Given the description of an element on the screen output the (x, y) to click on. 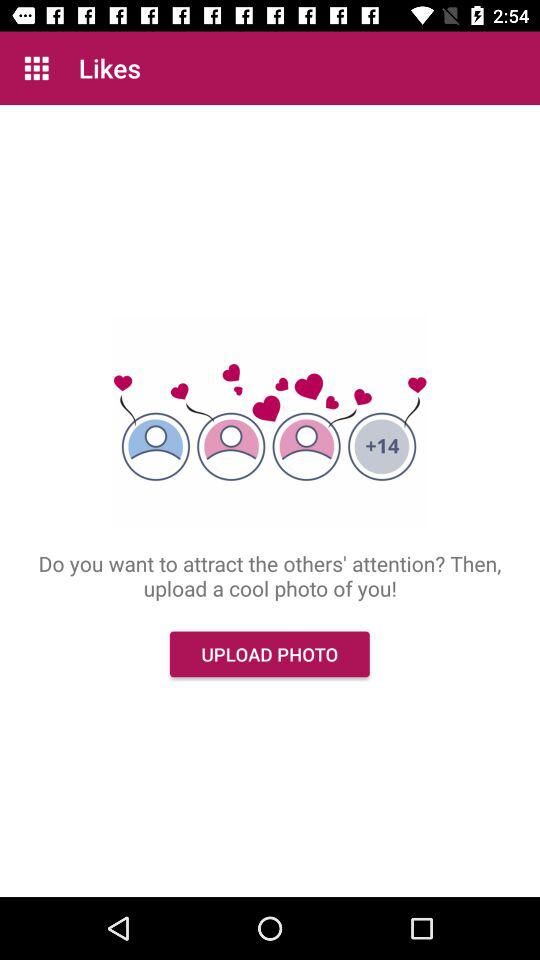
tap item next to likes icon (36, 68)
